Given the description of an element on the screen output the (x, y) to click on. 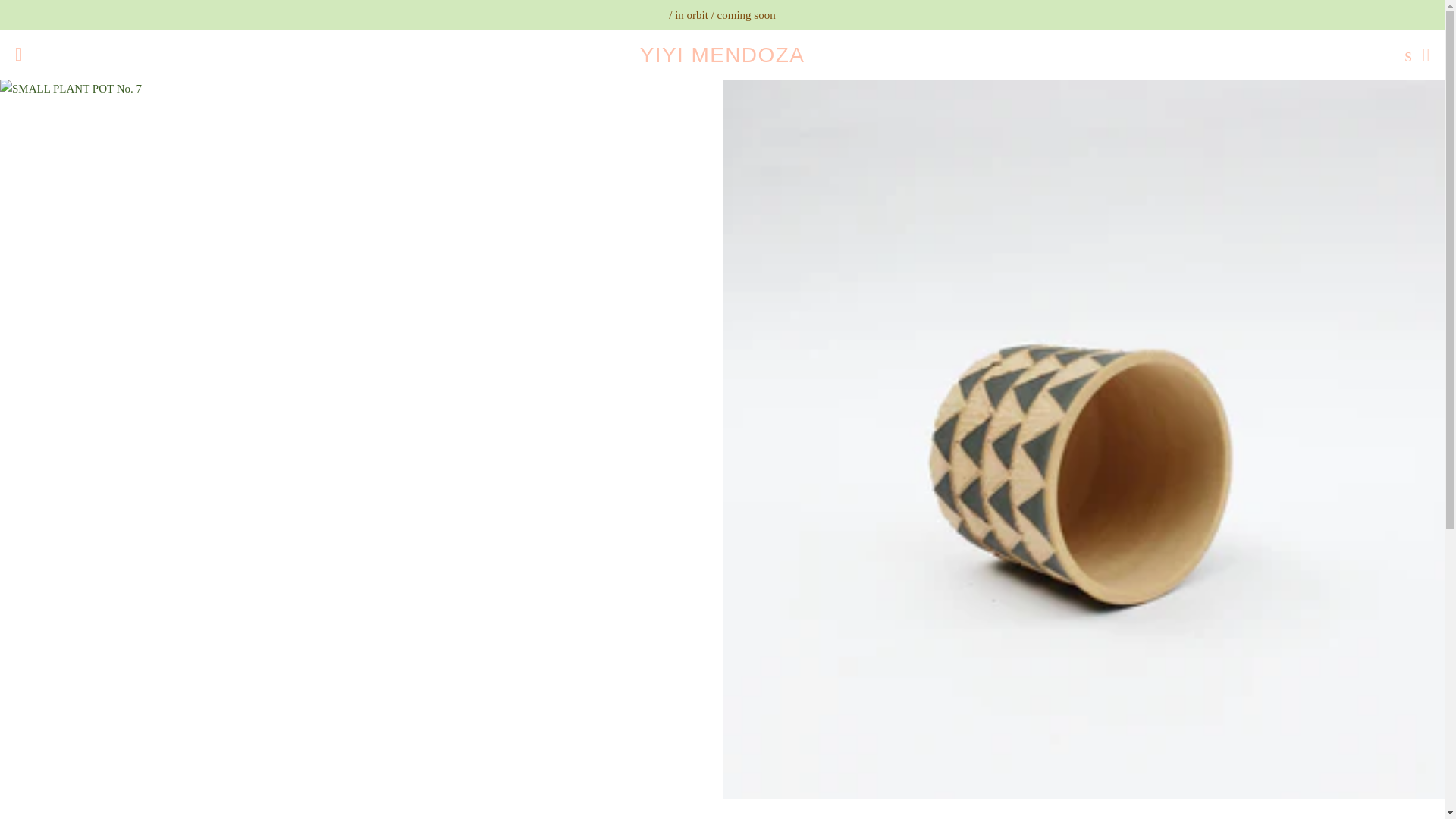
YIYI MENDOZA (722, 54)
